Given the description of an element on the screen output the (x, y) to click on. 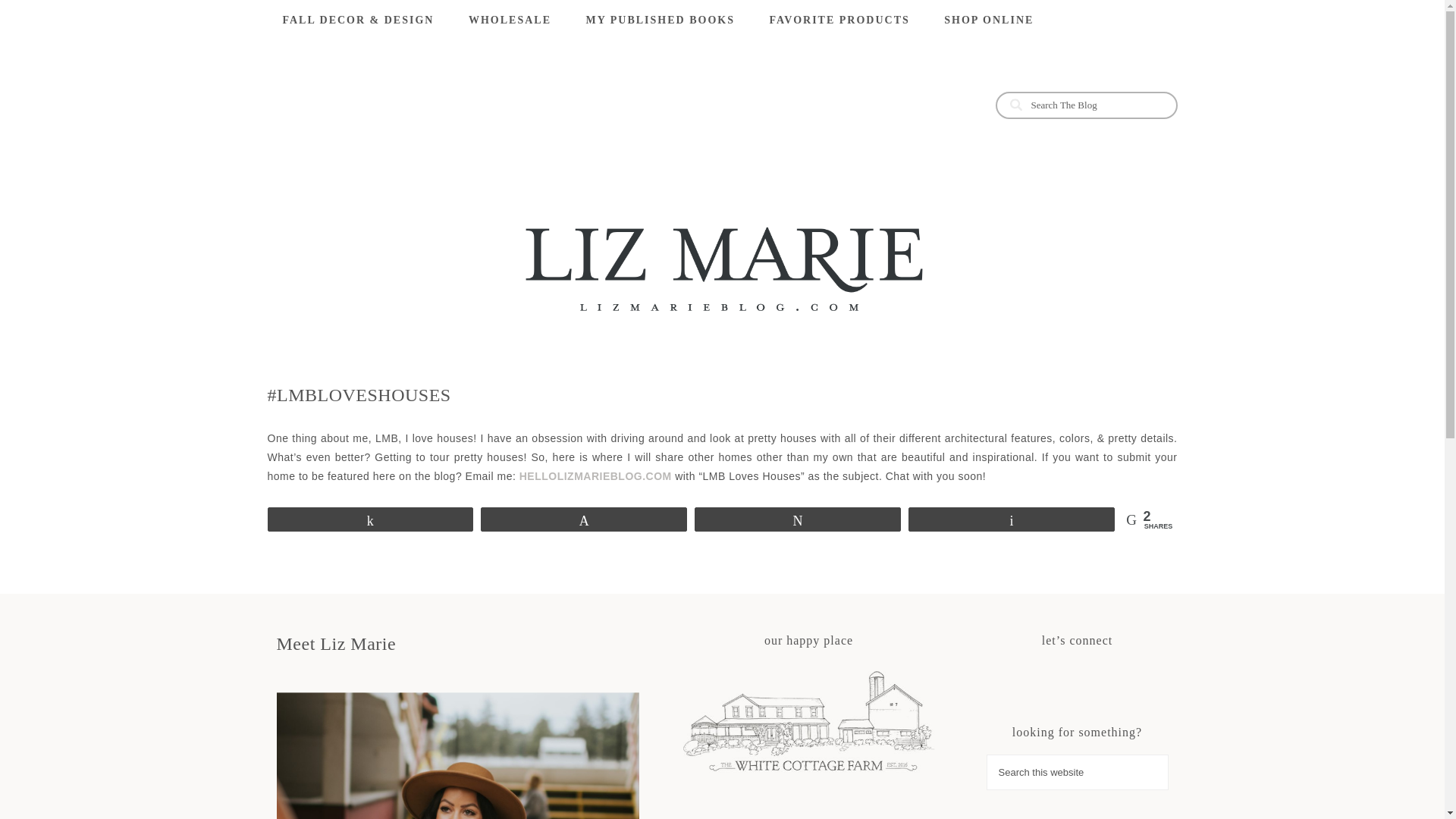
WHOLESALE (509, 20)
HELLOLIZMARIEBLOG.COM (595, 476)
Our happy place (807, 722)
FAVORITE PRODUCTS (839, 20)
SHOP ONLINE (988, 20)
MY PUBLISHED BOOKS (659, 20)
